Given the description of an element on the screen output the (x, y) to click on. 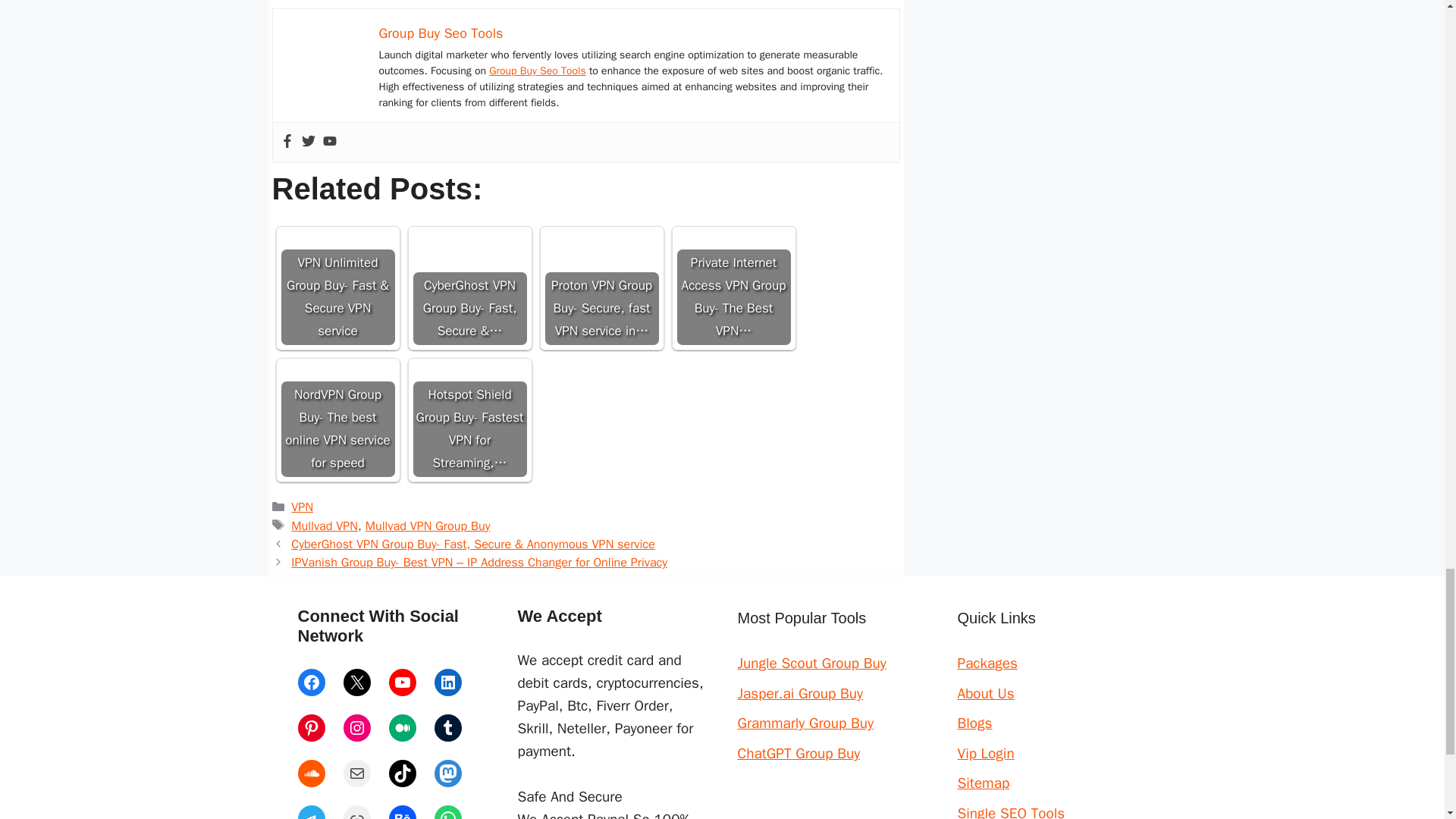
VPN (302, 506)
Group Buy Seo Tools (440, 33)
Mullvad VPN Group Buy (427, 525)
NordVPN Group Buy- The best online VPN service for speed (337, 419)
NordVPN Group Buy- The best online VPN service for speed (337, 419)
Group Buy Seo Tools (537, 70)
X (355, 682)
Mullvad VPN (324, 525)
Facebook (310, 682)
LinkedIn (447, 682)
